Given the description of an element on the screen output the (x, y) to click on. 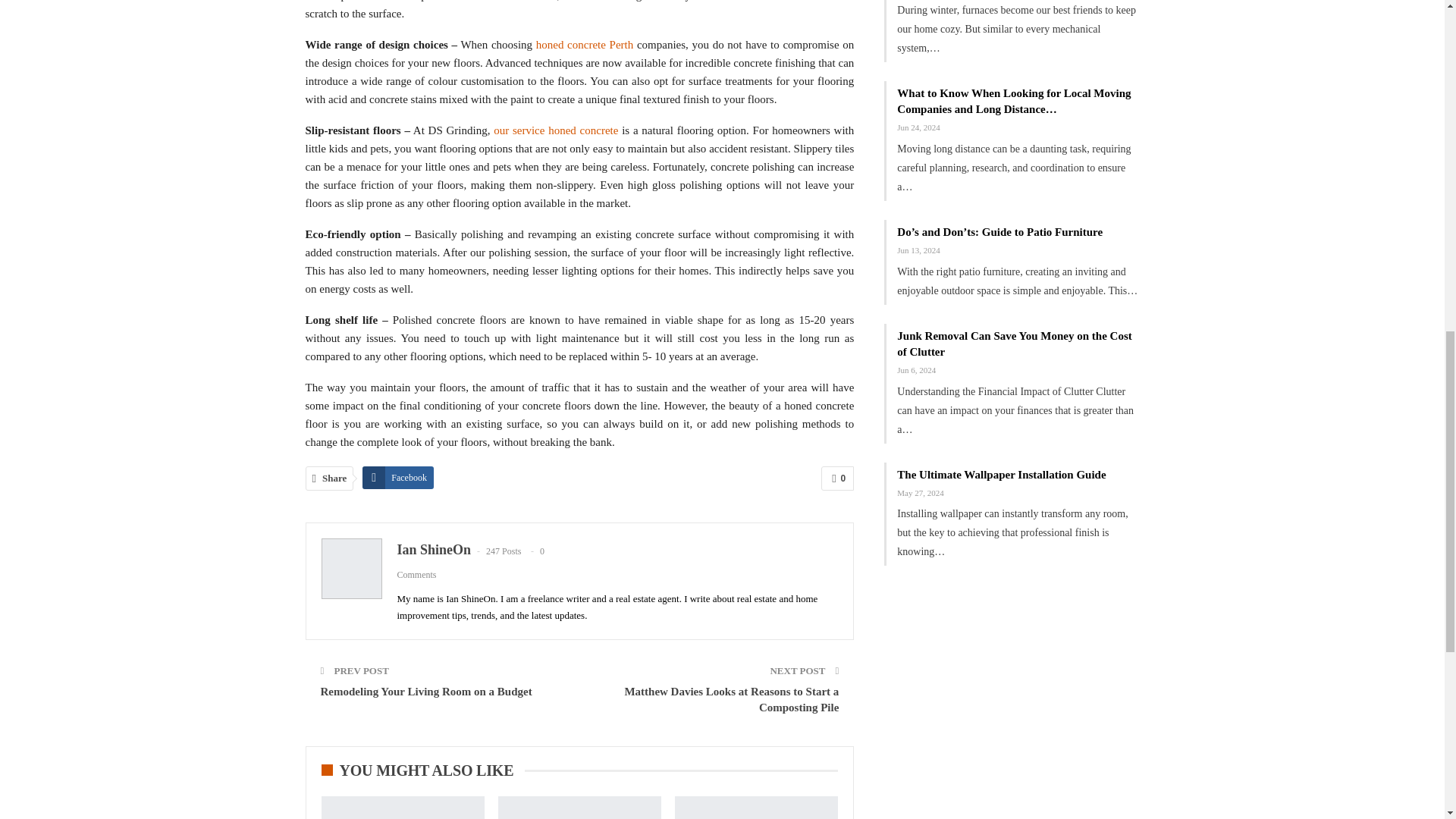
honed concrete Perth (584, 44)
our service honed concrete (555, 130)
YOU MIGHT ALSO LIKE (423, 771)
0 (837, 478)
Matthew Davies Looks at Reasons to Start a Composting Pile (731, 699)
Facebook (397, 477)
Remodeling Your Living Room on a Budget (425, 691)
The Handy Guide to Roofers (579, 807)
Ian ShineOn (434, 549)
